Given the description of an element on the screen output the (x, y) to click on. 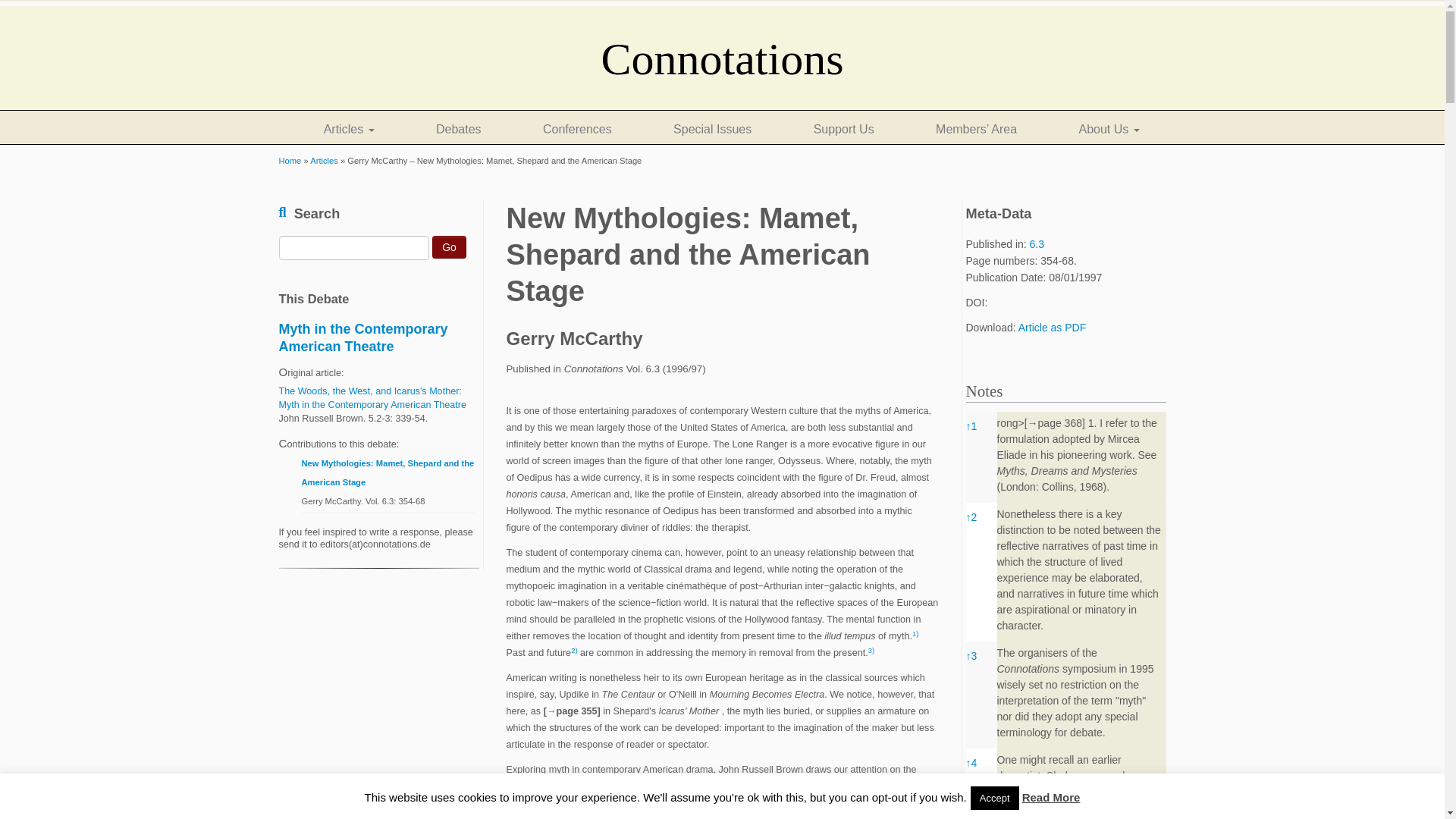
Articles (349, 129)
6.3 (1036, 244)
Debates (458, 129)
Articles (323, 160)
New Mythologies: Mamet, Shepard and the American Stage (387, 472)
Articles (323, 160)
Support Us (843, 129)
Myth in the Contemporary American Theatre (363, 337)
Connotations (290, 160)
